Given the description of an element on the screen output the (x, y) to click on. 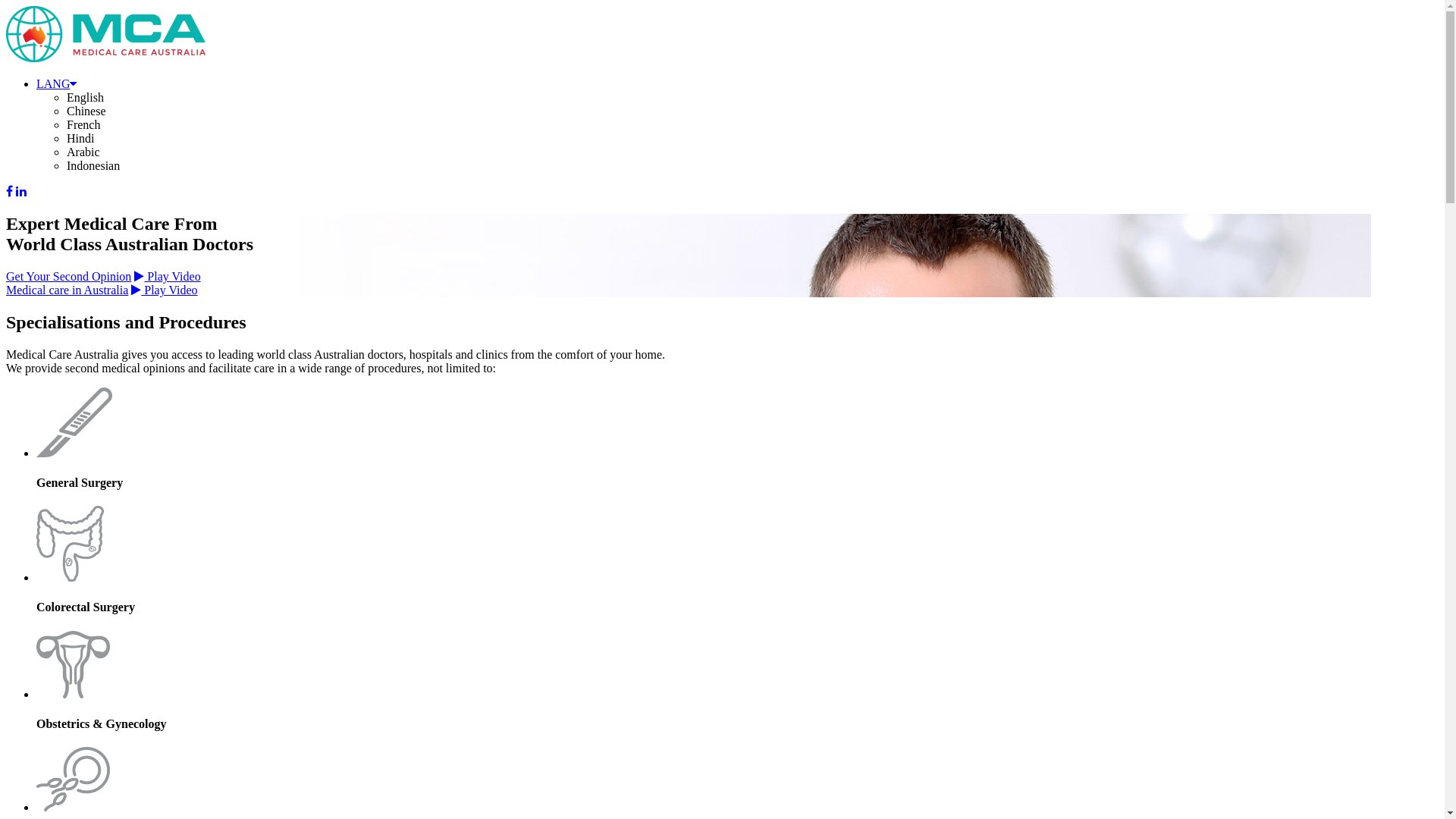
LANG Element type: text (56, 83)
Play Video Element type: text (164, 289)
Arabic Element type: text (83, 151)
French Element type: text (83, 124)
Indonesian Element type: text (92, 165)
Medical care in Australia Element type: text (67, 289)
Play Video Element type: text (167, 275)
English Element type: text (84, 97)
Get Your Second Opinion Element type: text (68, 275)
Hindi Element type: text (80, 137)
Chinese Element type: text (86, 110)
